Given the description of an element on the screen output the (x, y) to click on. 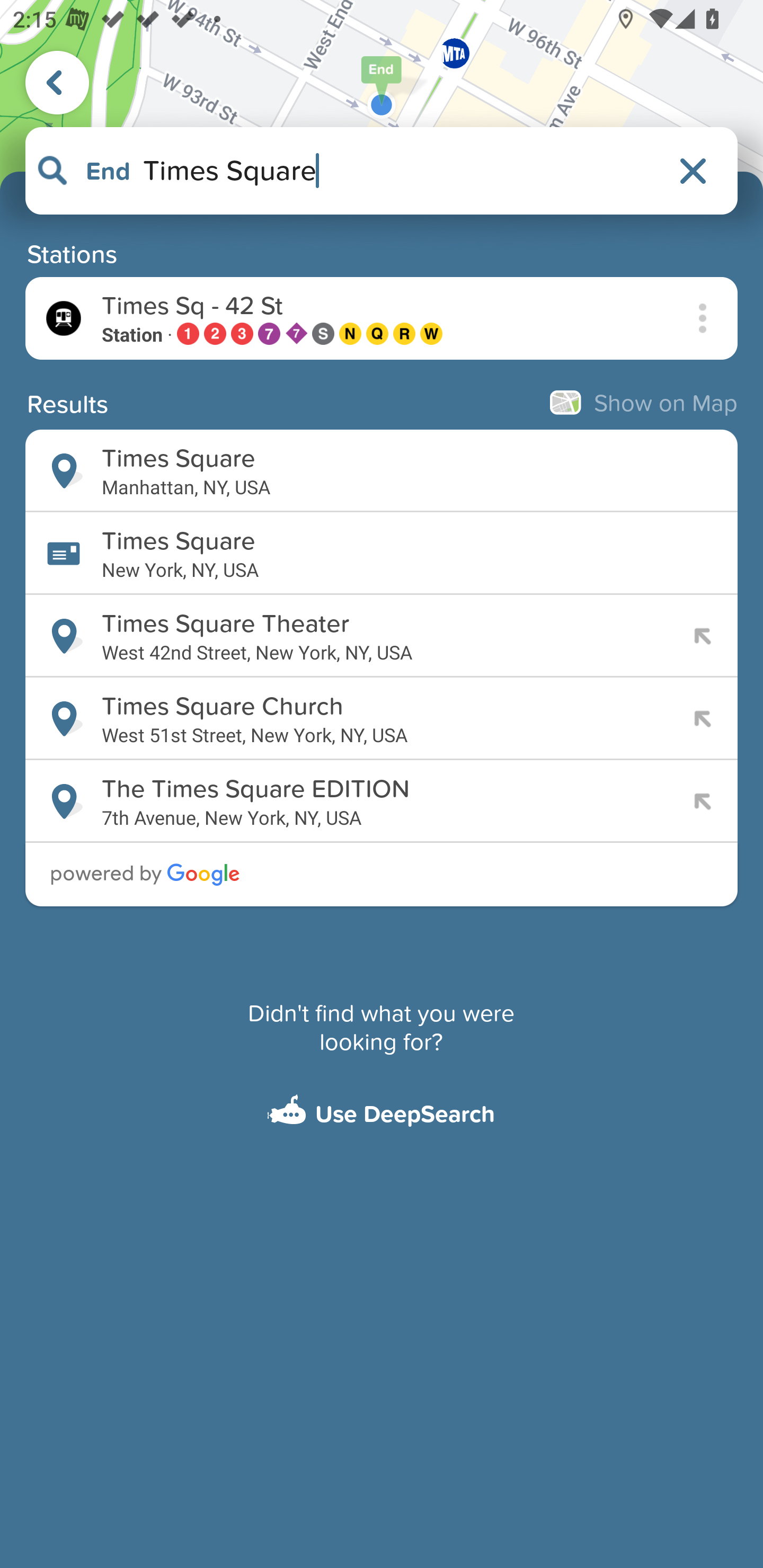
Times Square Manhattan, NY, USA (381, 470)
